Given the description of an element on the screen output the (x, y) to click on. 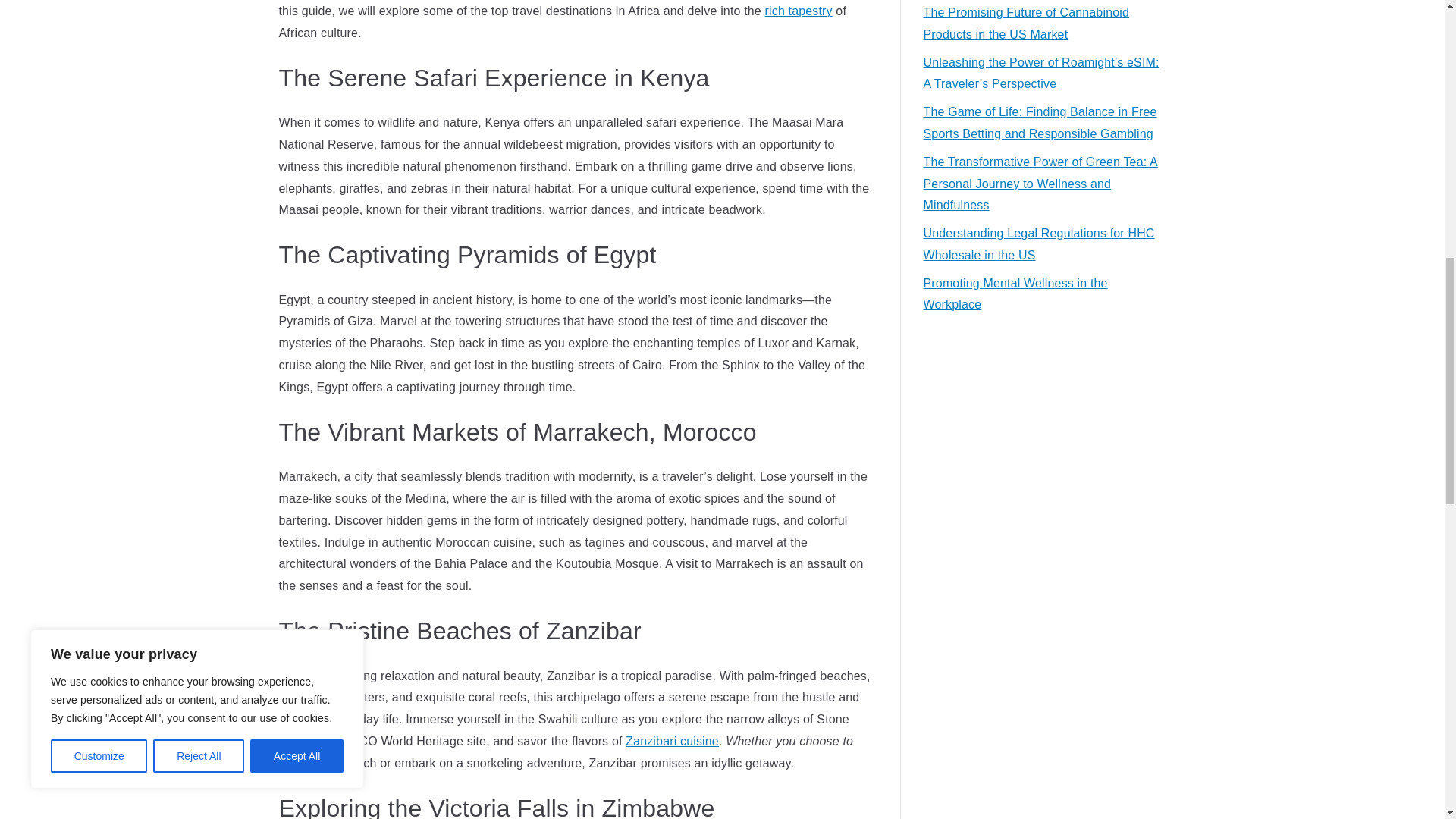
rich tapestry (798, 10)
Zanzibari cuisine (672, 740)
